Given the description of an element on the screen output the (x, y) to click on. 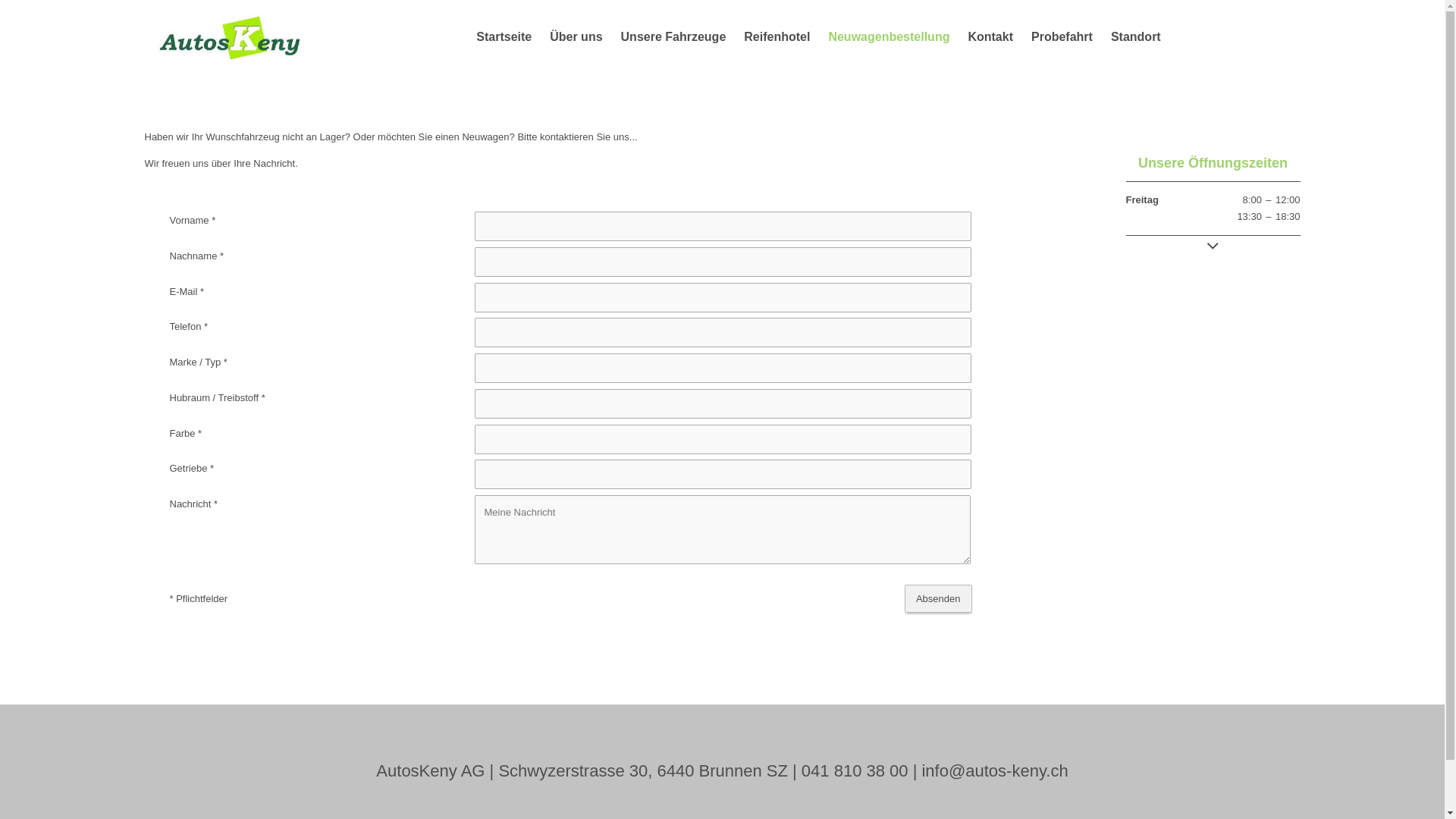
Reifenhotel Element type: text (776, 36)
Absenden Element type: text (938, 598)
Startseite Element type: text (503, 36)
Probefahrt Element type: text (1061, 36)
  Element type: text (234, 36)
info@autos-keny.ch Element type: text (994, 770)
Standort Element type: text (1135, 36)
Neuwagenbestellung Element type: text (888, 36)
Kontakt Element type: text (990, 36)
Unsere Fahrzeuge Element type: text (673, 36)
